Given the description of an element on the screen output the (x, y) to click on. 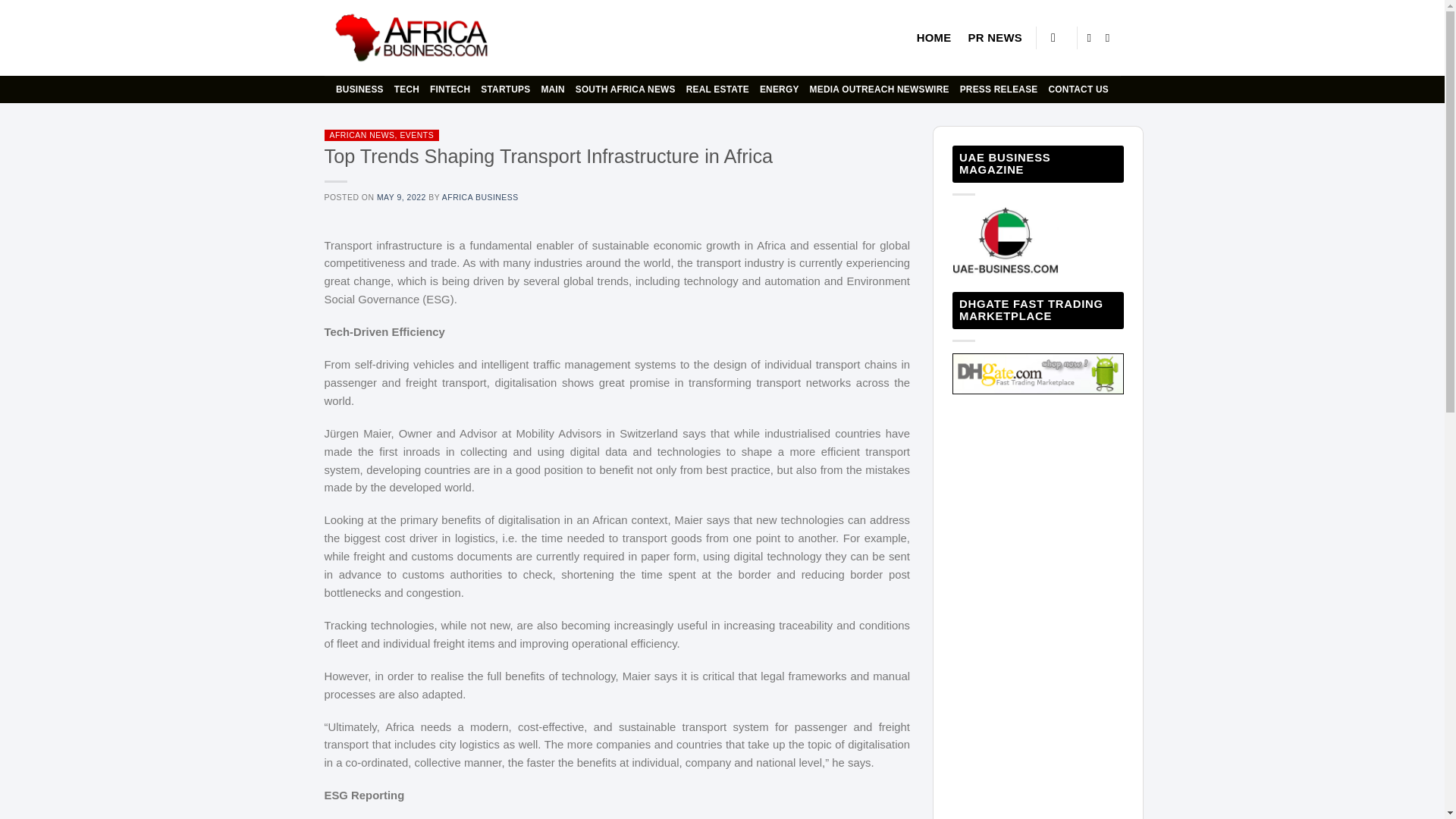
PRESS RELEASE (998, 89)
AfricaBusiness.com - Africa Business (412, 38)
FINTECH (449, 89)
HOME (934, 37)
MAY 9, 2022 (401, 197)
MEDIA OUTREACH NEWSWIRE (879, 89)
UAE Business Magazine (1005, 241)
PR NEWS (995, 37)
AFRICAN NEWS (361, 135)
UAE Business Magazine (1038, 372)
SOUTH AFRICA NEWS (625, 89)
REAL ESTATE (717, 89)
TECH (406, 89)
CONTACT US (1078, 89)
ENERGY (779, 89)
